Given the description of an element on the screen output the (x, y) to click on. 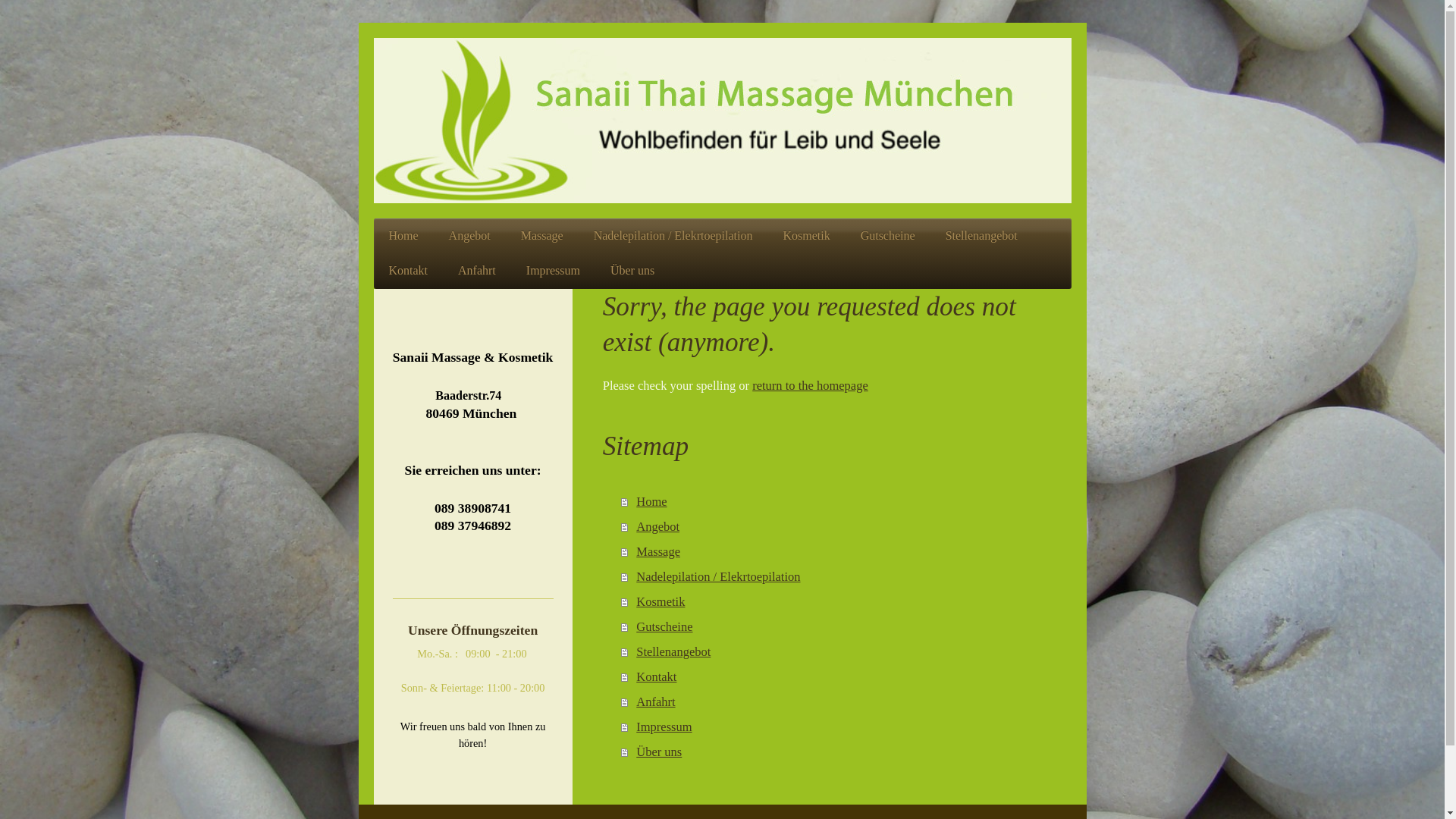
Stellenangebot Element type: text (981, 235)
Impressum Element type: text (553, 270)
Nadelepilation / Elekrtoepilation Element type: text (838, 576)
Massage Element type: text (838, 551)
Home Element type: text (403, 235)
Gutscheine Element type: text (887, 235)
Nadelepilation / Elekrtoepilation Element type: text (673, 235)
Kontakt Element type: text (838, 676)
Angebot Element type: text (469, 235)
return to the homepage Element type: text (810, 385)
Kosmetik Element type: text (838, 601)
Angebot Element type: text (838, 526)
Anfahrt Element type: text (838, 701)
Massage Element type: text (541, 235)
Home Element type: text (838, 501)
Impressum Element type: text (838, 726)
Kontakt Element type: text (407, 270)
Kosmetik Element type: text (805, 235)
Stellenangebot Element type: text (838, 651)
Anfahrt Element type: text (476, 270)
Gutscheine Element type: text (838, 626)
